Given the description of an element on the screen output the (x, y) to click on. 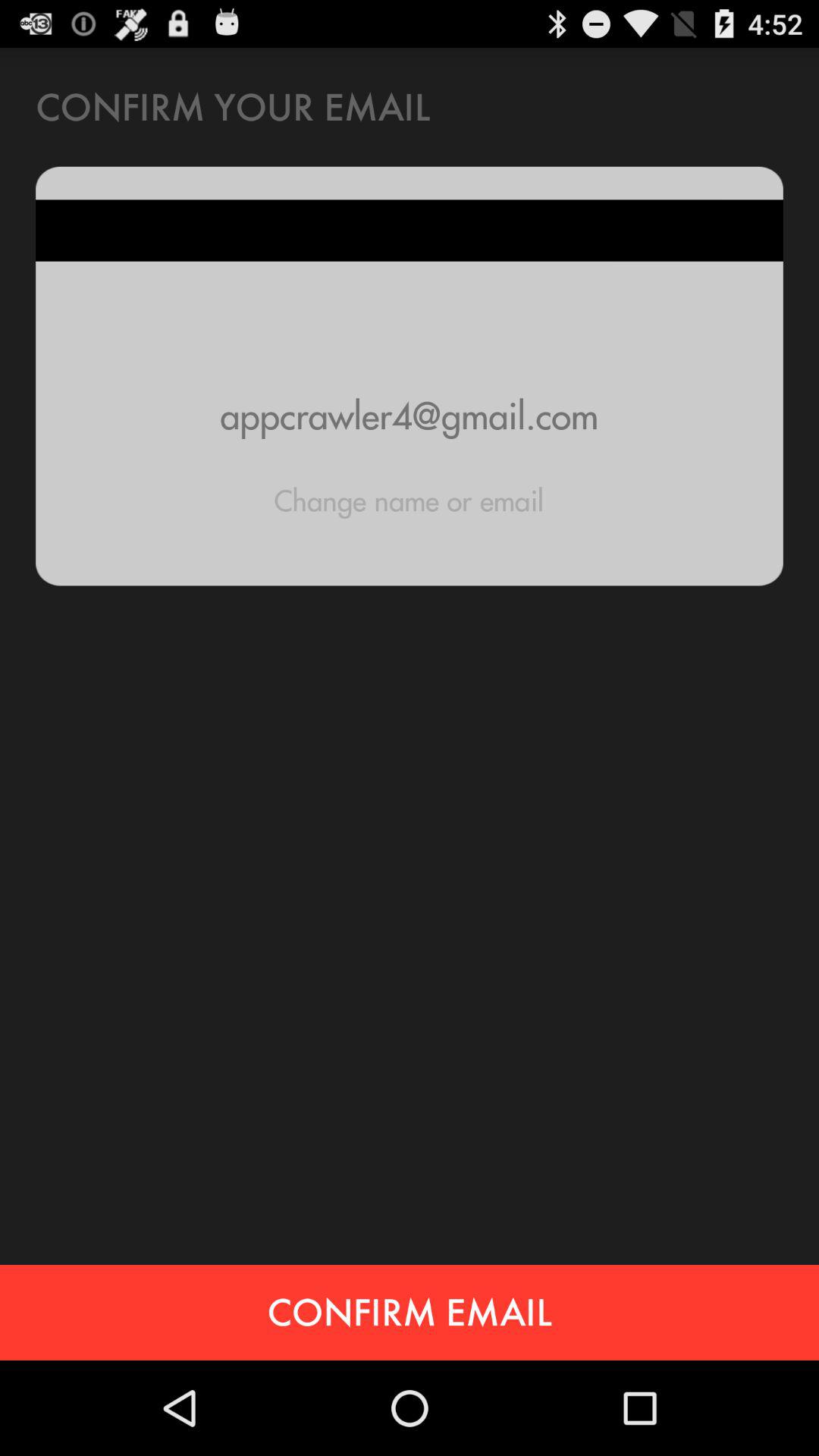
turn on the change name or at the center (409, 500)
